Given the description of an element on the screen output the (x, y) to click on. 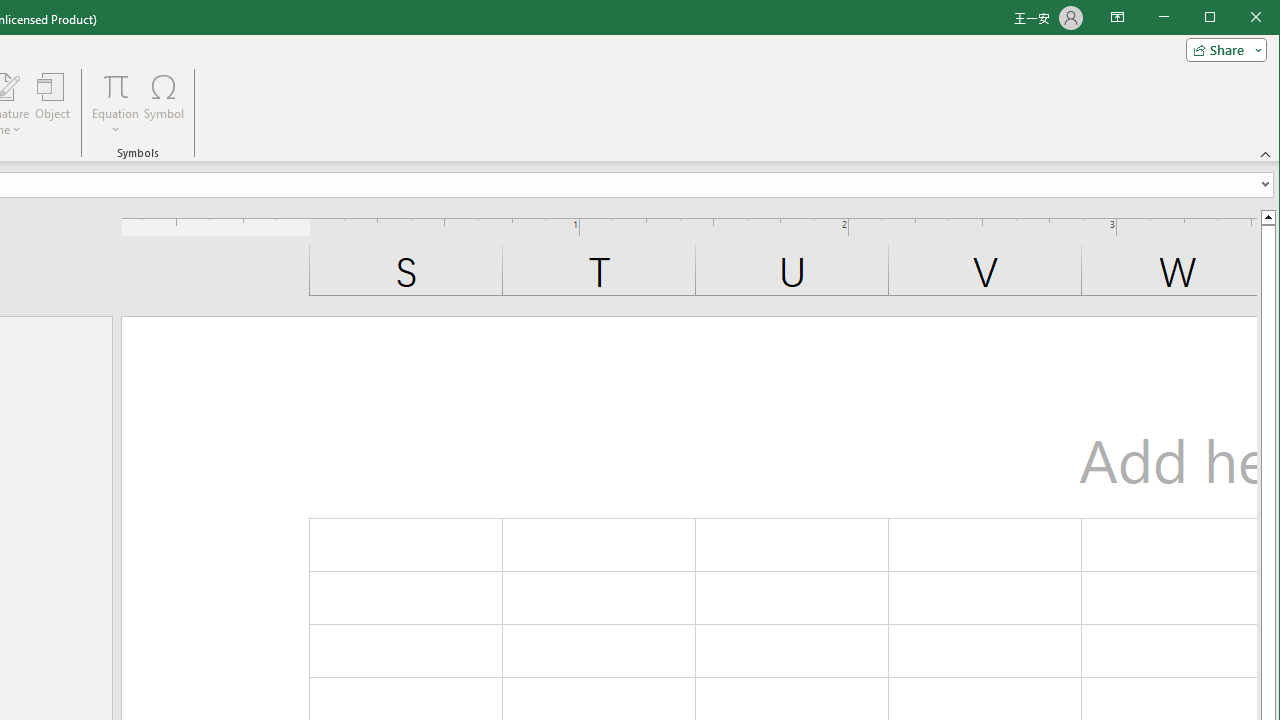
Equation (115, 104)
Equation (115, 86)
Object... (53, 104)
Maximize (1238, 18)
Symbol... (164, 104)
